Given the description of an element on the screen output the (x, y) to click on. 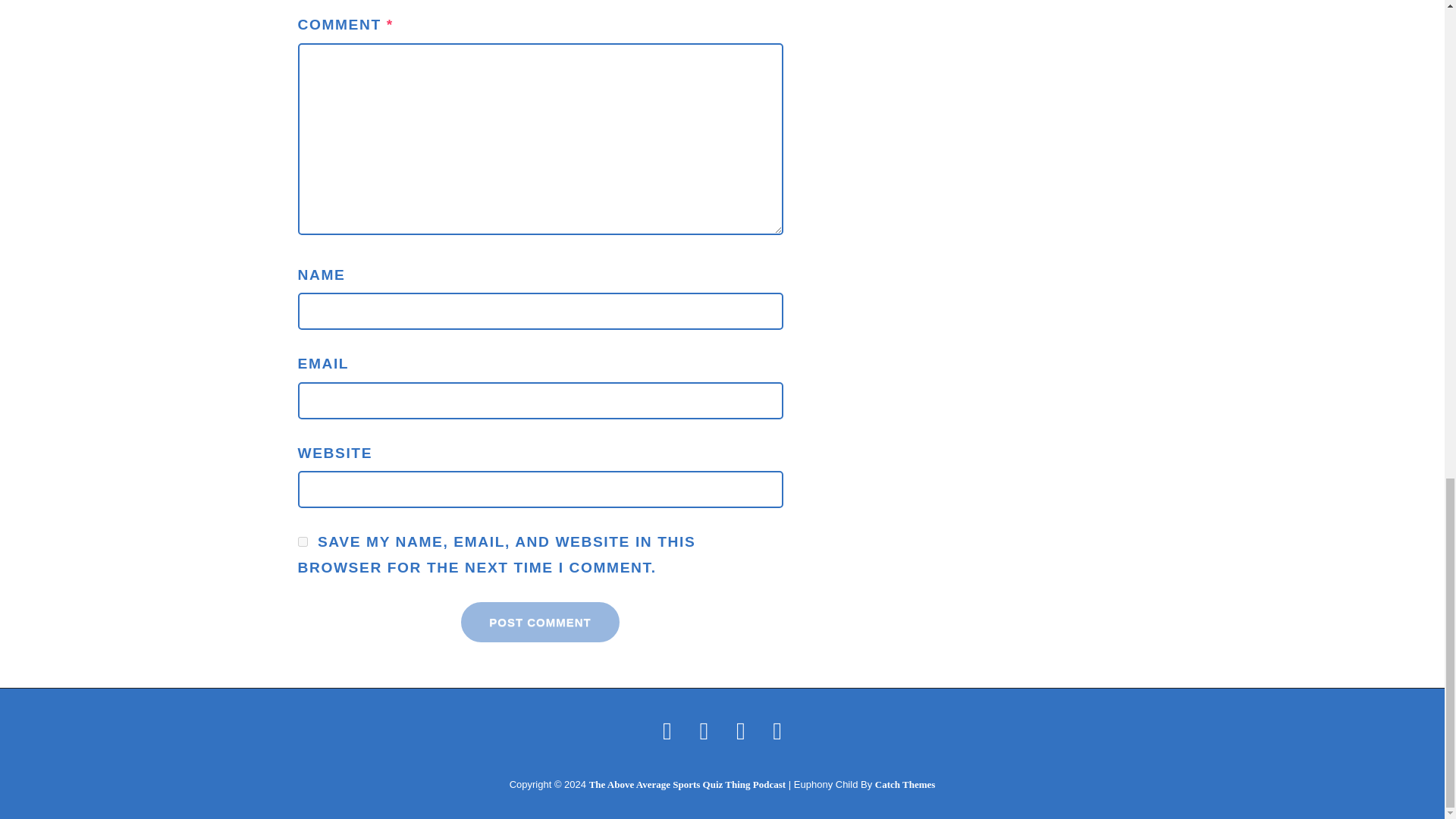
Post Comment (540, 621)
yes (302, 542)
Twitter (667, 729)
The Above Average Sports Quiz Thing Podcast (687, 784)
YouTube (776, 729)
Instagram (740, 729)
Facebook (703, 729)
Post Comment (540, 621)
